Given the description of an element on the screen output the (x, y) to click on. 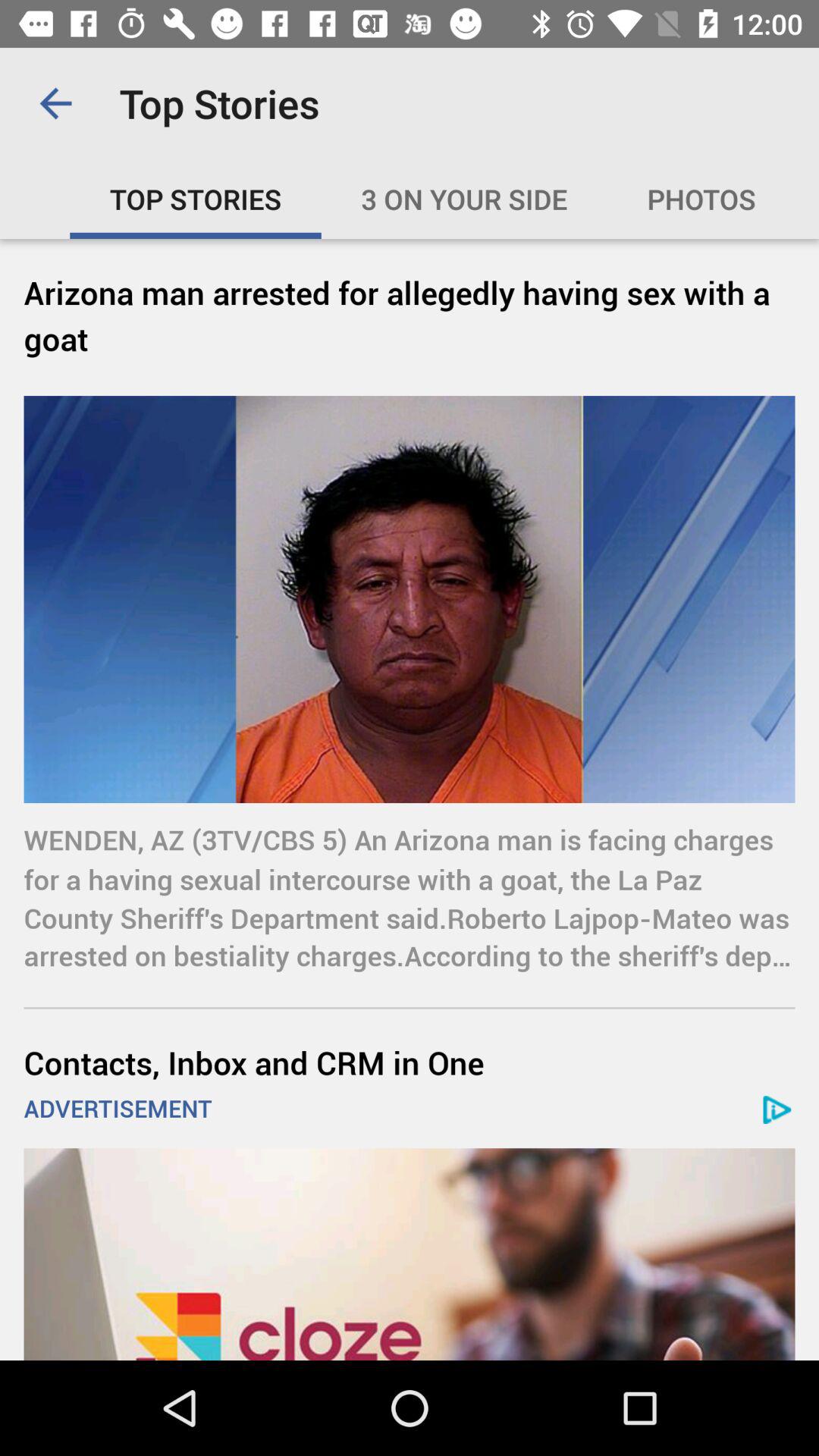
go to commercial (409, 1254)
